Given the description of an element on the screen output the (x, y) to click on. 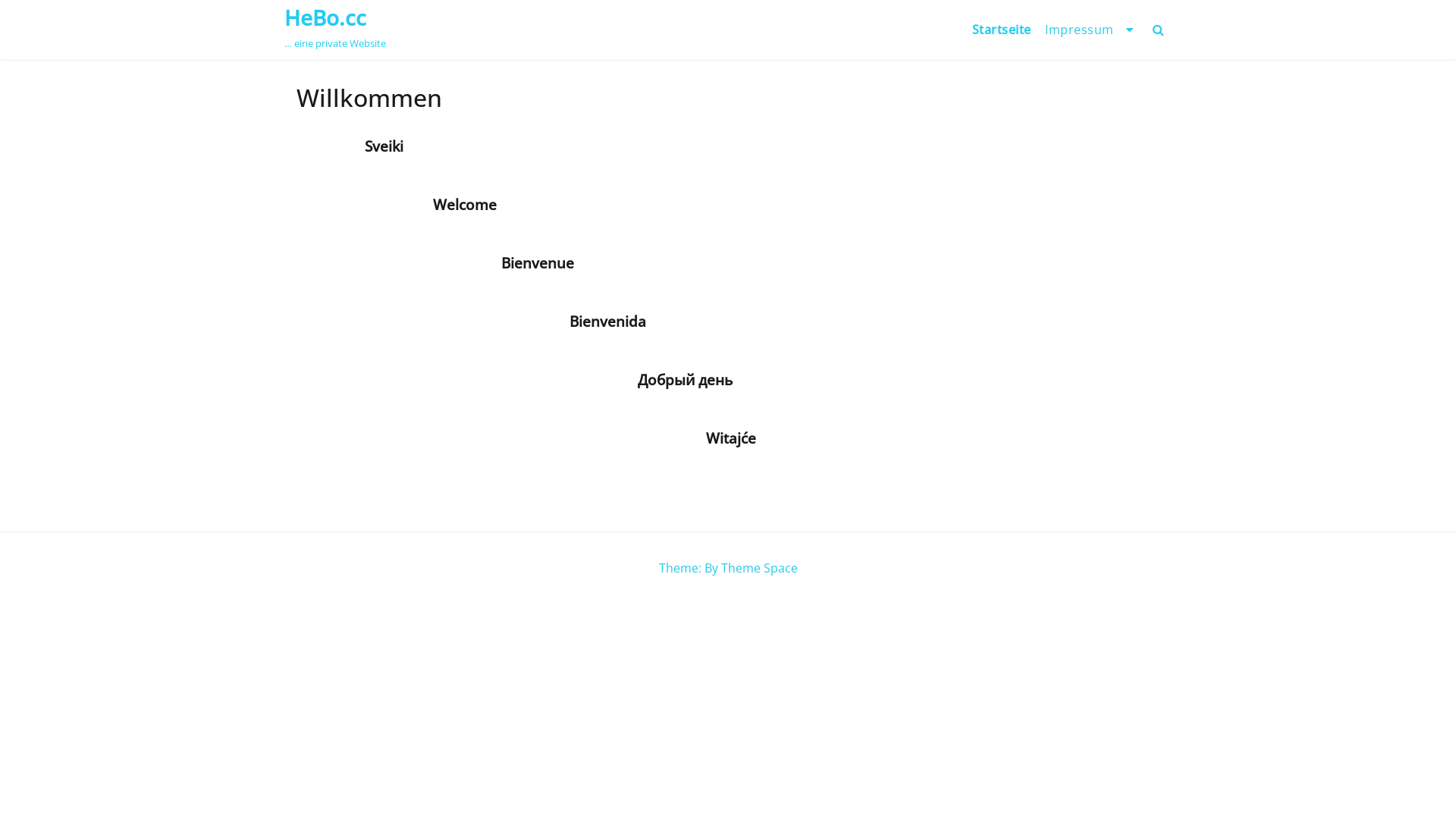
Theme: By Theme Space Element type: text (727, 567)
Startseite Element type: text (1001, 29)
Impressum Element type: text (1089, 29)
HeBo.cc Element type: text (325, 17)
